Given the description of an element on the screen output the (x, y) to click on. 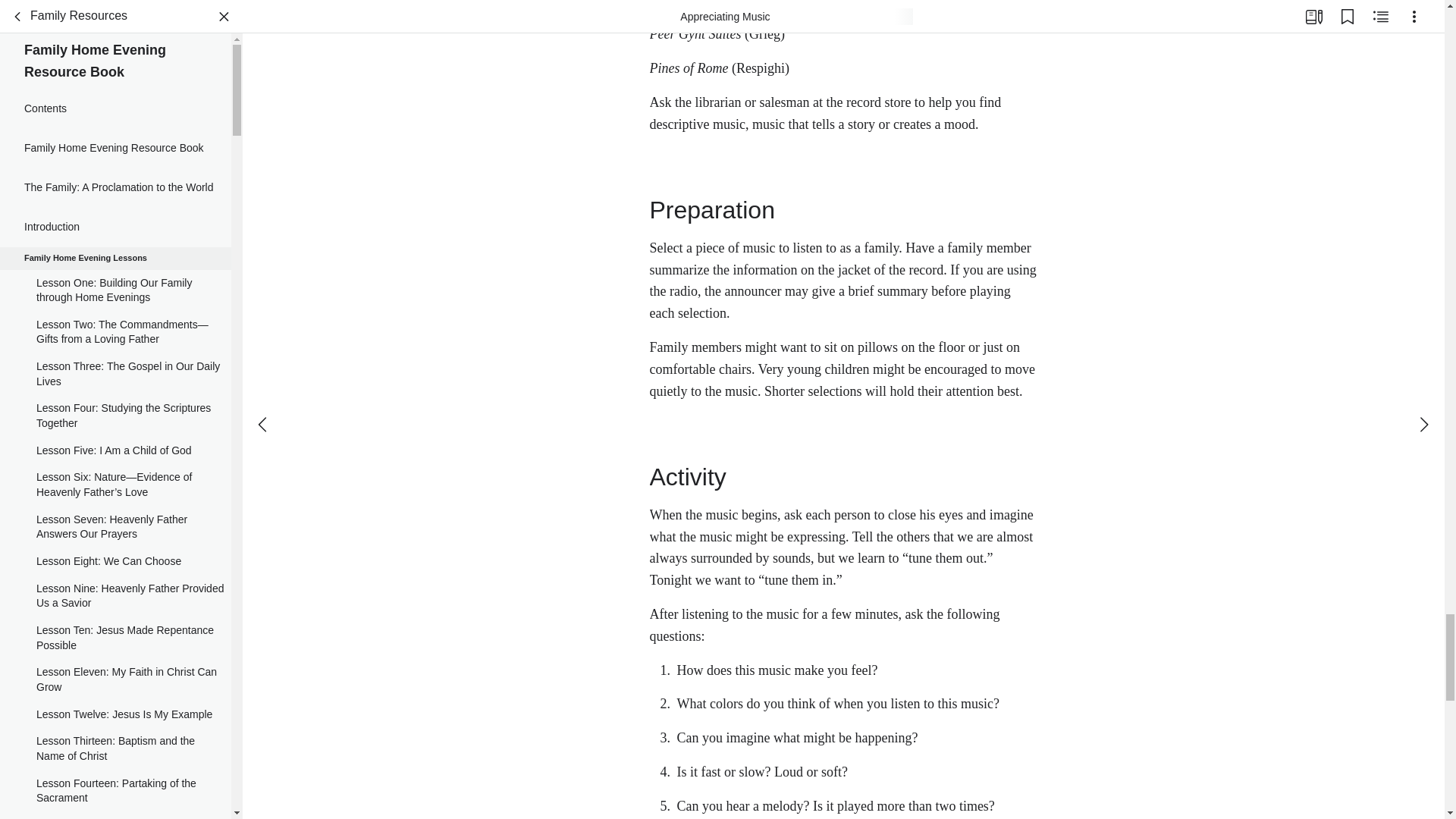
Lesson Twenty: A House of Order (115, 242)
Lesson Twenty-six: Sharing Our Blessings (115, 471)
Lesson Thirty-two: Leaving on a Mission (115, 693)
Lesson Thirty-one: Receiving a Patriarchal Blessing (115, 651)
Lesson Twenty-one: Family Unity (115, 269)
Lesson Twenty-nine: Preparing for Baptism (115, 582)
Lesson Twenty-two: Our Extended Family (115, 304)
Lesson Nineteen: The Priesthood in Our Home (115, 207)
Lesson Eighteen: Unity through Family Prayer (115, 165)
Lesson Twenty-five: Developing Compassion (115, 429)
